Given the description of an element on the screen output the (x, y) to click on. 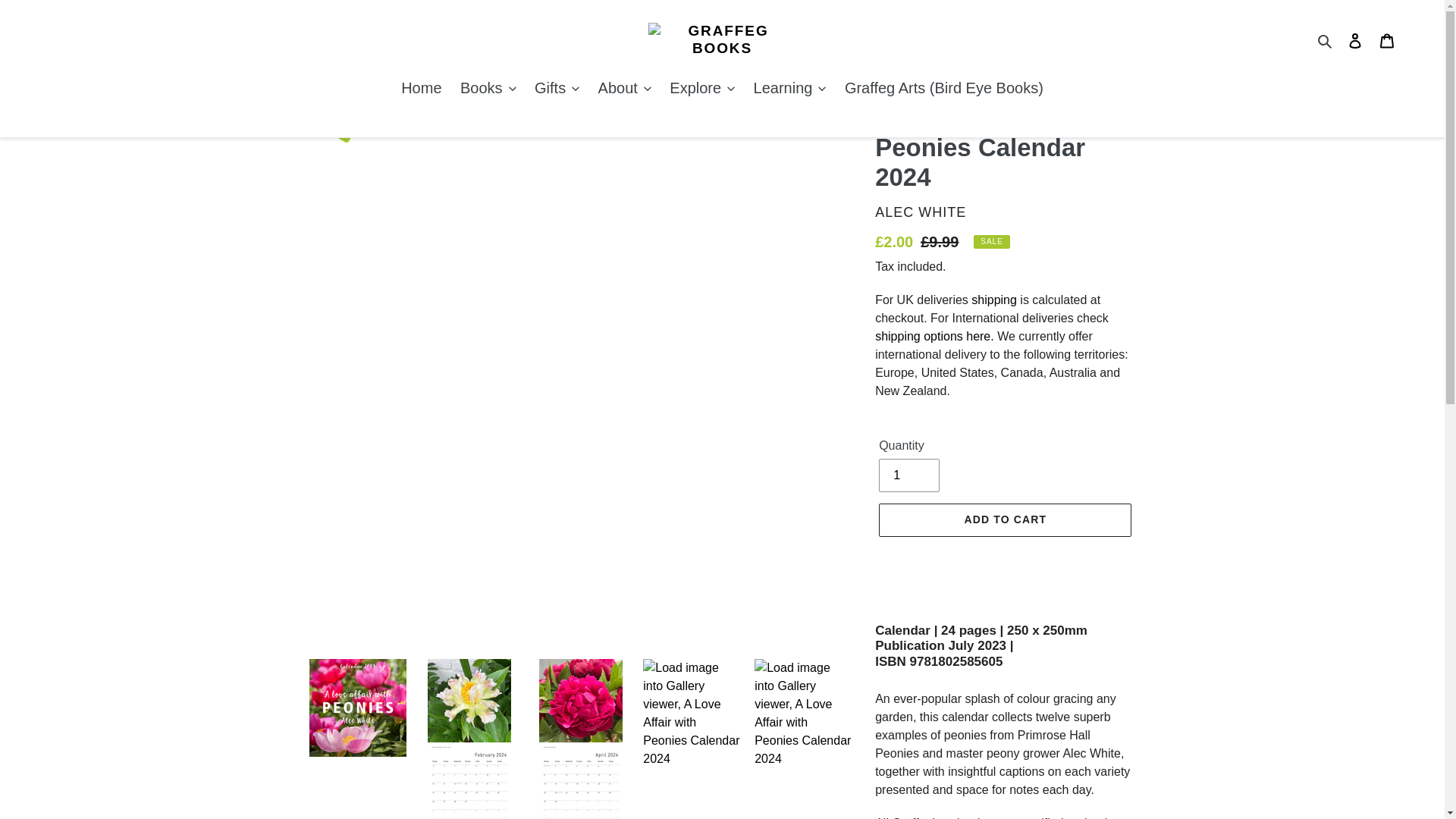
Search (1326, 39)
1 (909, 475)
Cart (1387, 39)
Log in (1355, 39)
